Given the description of an element on the screen output the (x, y) to click on. 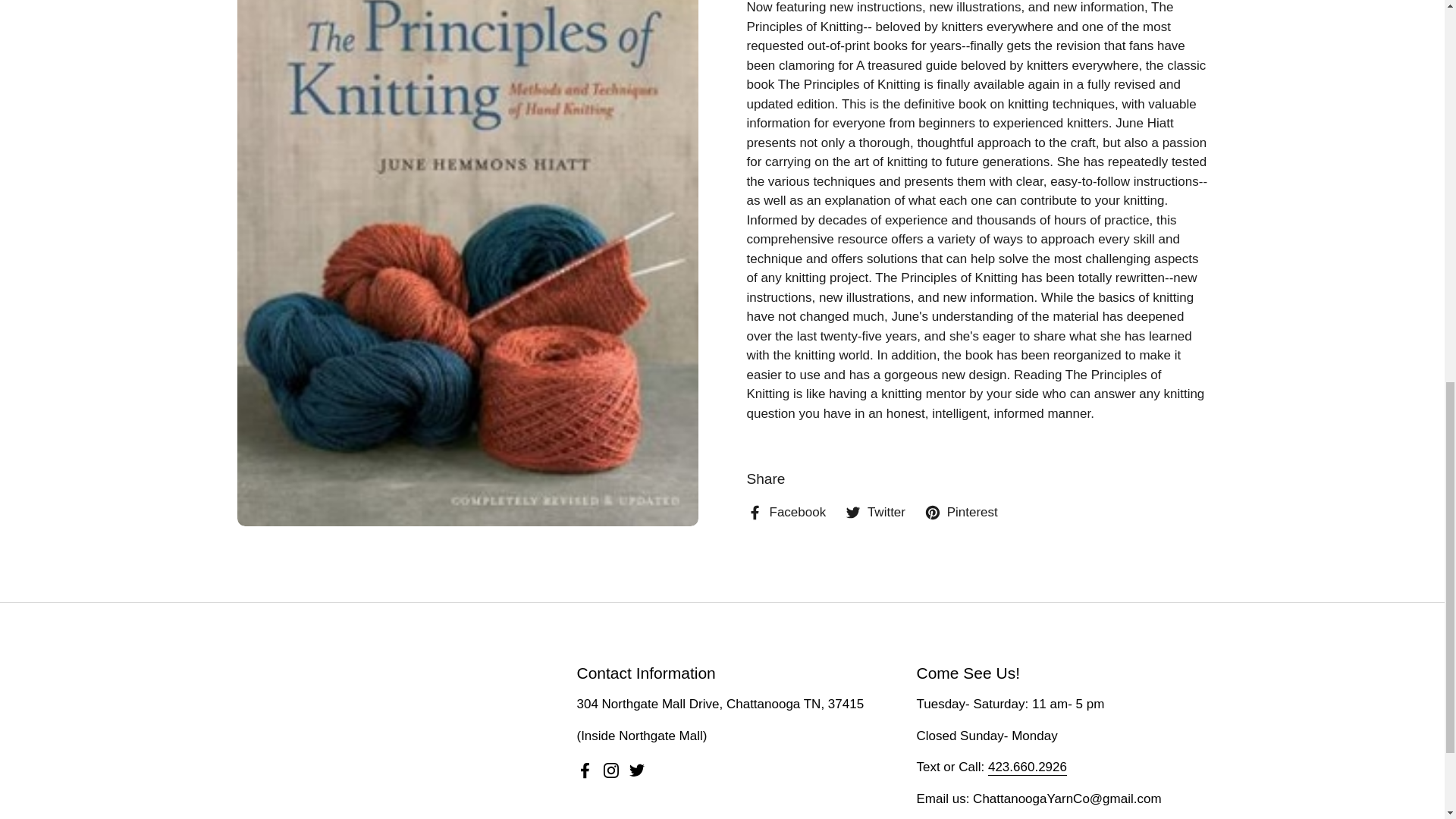
Share on twitter (874, 512)
Pinterest (960, 512)
Share on pinterest (960, 512)
Share on facebook (785, 512)
Facebook (585, 770)
Twitter (874, 512)
423.660.2926 (1027, 767)
Twitter (636, 770)
Instagram (611, 770)
Facebook (785, 512)
